Given the description of an element on the screen output the (x, y) to click on. 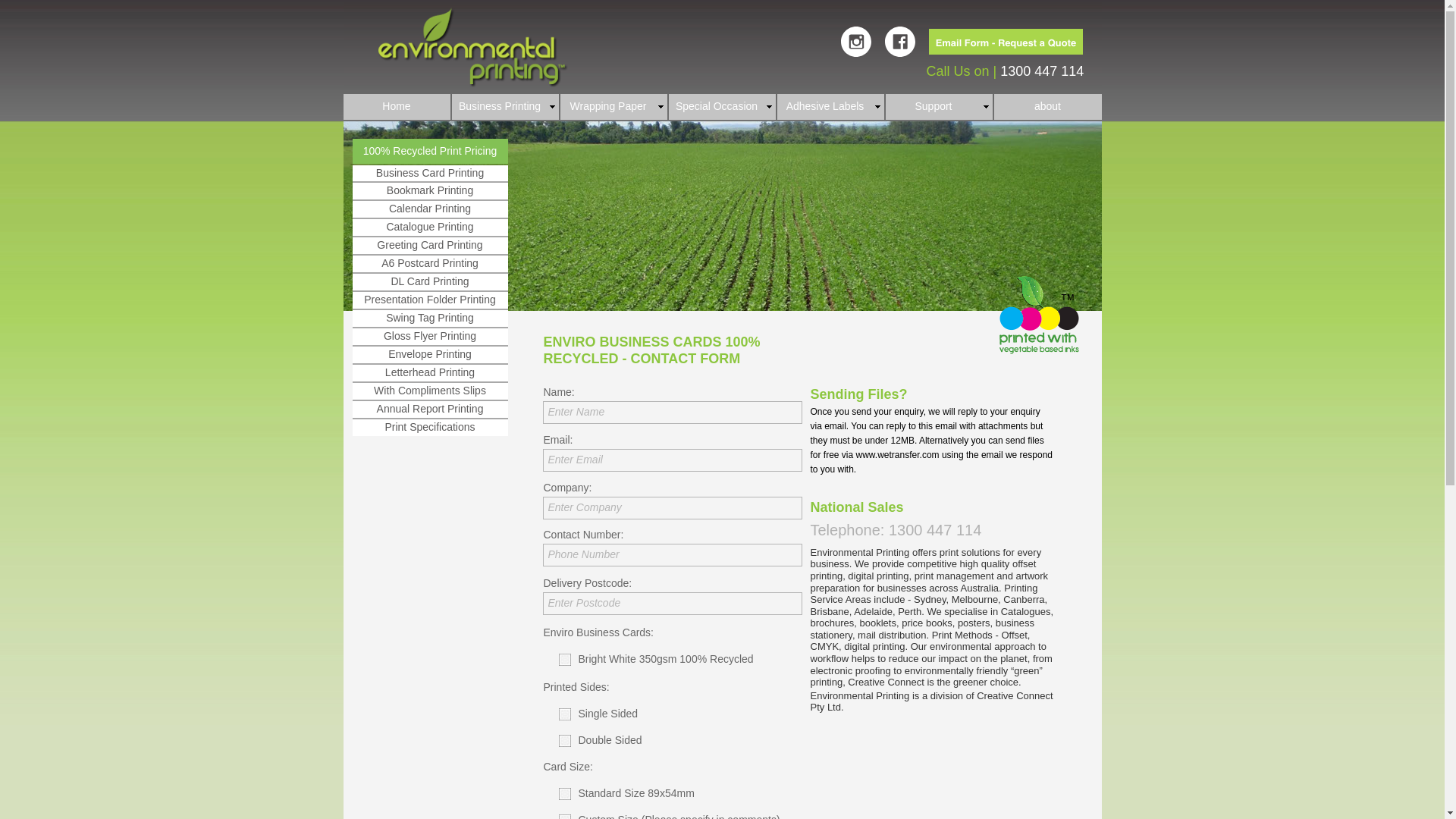
Bookmark Printing Element type: text (429, 190)
Swing Tag Printing Element type: text (429, 318)
Letterhead Printing Element type: text (429, 372)
Presentation Folder Printing Element type: text (429, 299)
A6 Postcard Printing Element type: text (429, 263)
Greeting Card Printing Element type: text (429, 245)
Envelope Printing Element type: text (429, 354)
Annual Report Printing Element type: text (429, 409)
Gloss Flyer Printing Element type: text (429, 336)
DL Card Printing Element type: text (429, 281)
Catalogue Printing Element type: text (429, 227)
Business Card Printing Element type: text (429, 173)
Print Specifications Element type: text (429, 427)
Calendar Printing Element type: text (429, 208)
Home Element type: text (395, 106)
With Compliments Slips Element type: text (429, 390)
about Element type: text (1047, 106)
